Given the description of an element on the screen output the (x, y) to click on. 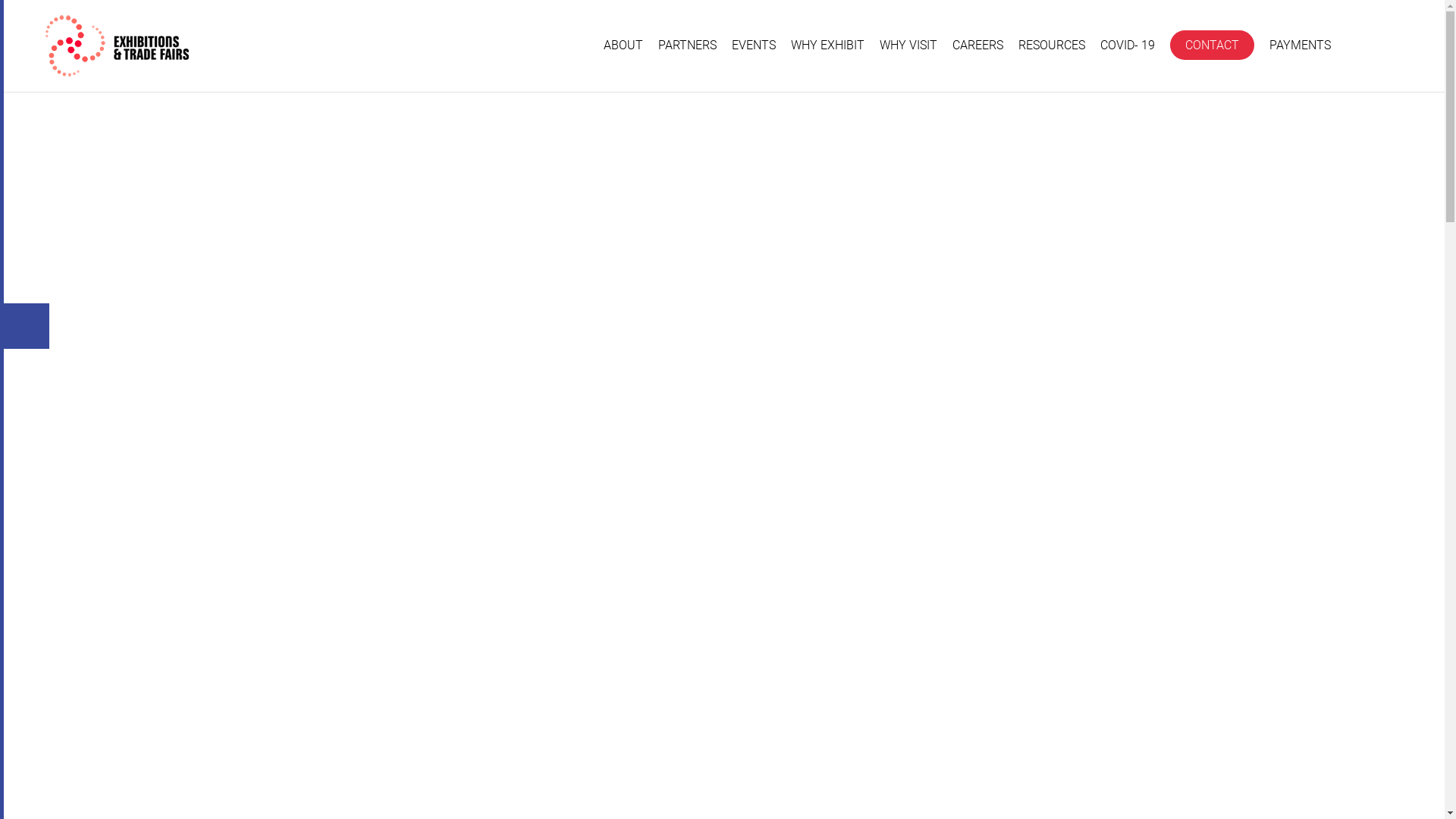
WHY EXHIBIT Element type: text (827, 44)
RESOURCES Element type: text (1051, 44)
COVID- 19 Element type: text (1127, 44)
PAYMENTS Element type: text (1299, 44)
PARTNERS Element type: text (687, 44)
WHY VISIT Element type: text (908, 44)
EVENTS Element type: text (753, 44)
Exhibition Trade Fairs Element type: hover (116, 45)
CAREERS Element type: text (977, 44)
ABOUT Element type: text (623, 44)
CONTACT Element type: text (1212, 44)
